Given the description of an element on the screen output the (x, y) to click on. 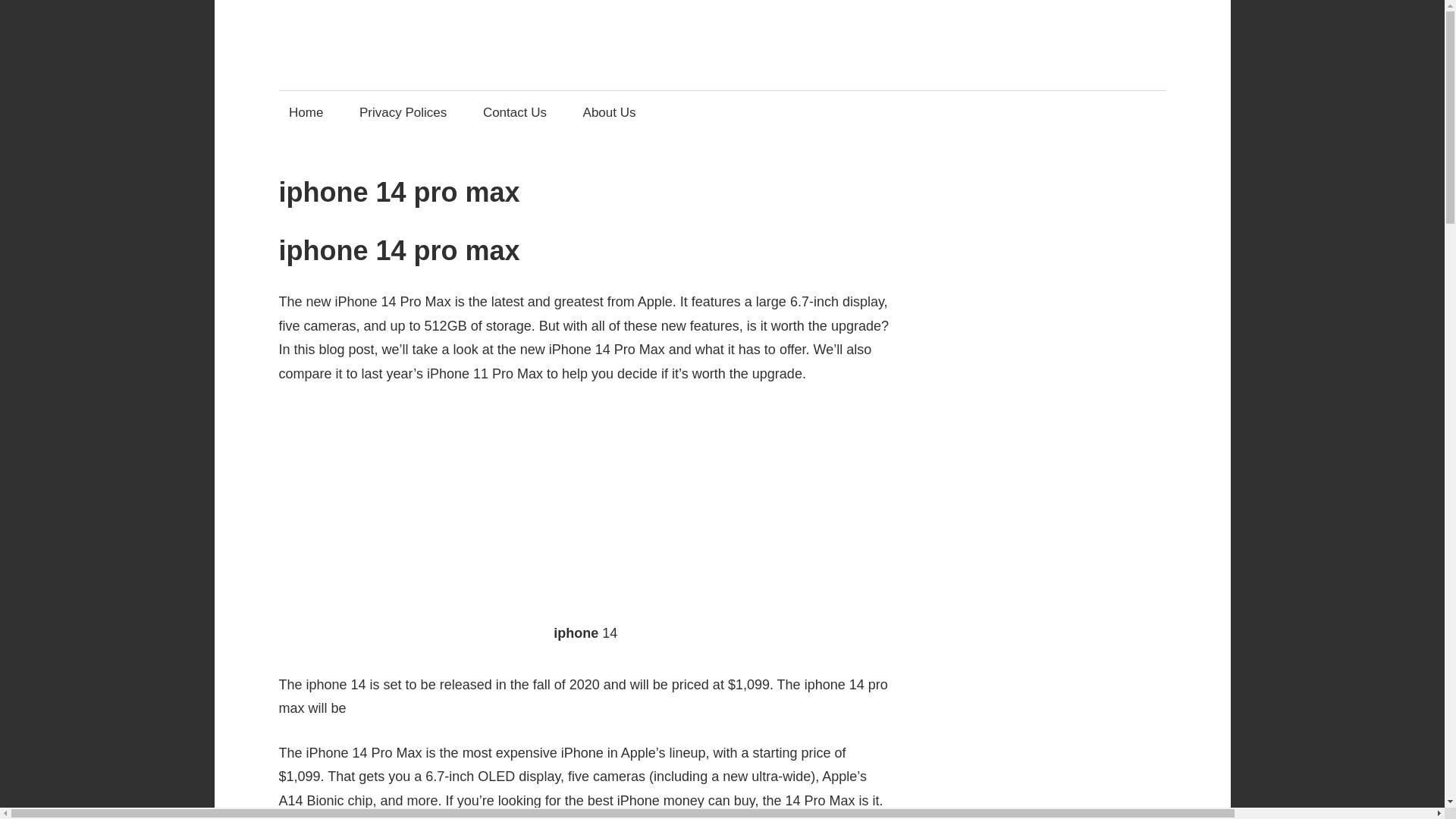
Privacy Polices (403, 112)
Contact Us (513, 112)
About Us (609, 112)
Home (306, 112)
